Given the description of an element on the screen output the (x, y) to click on. 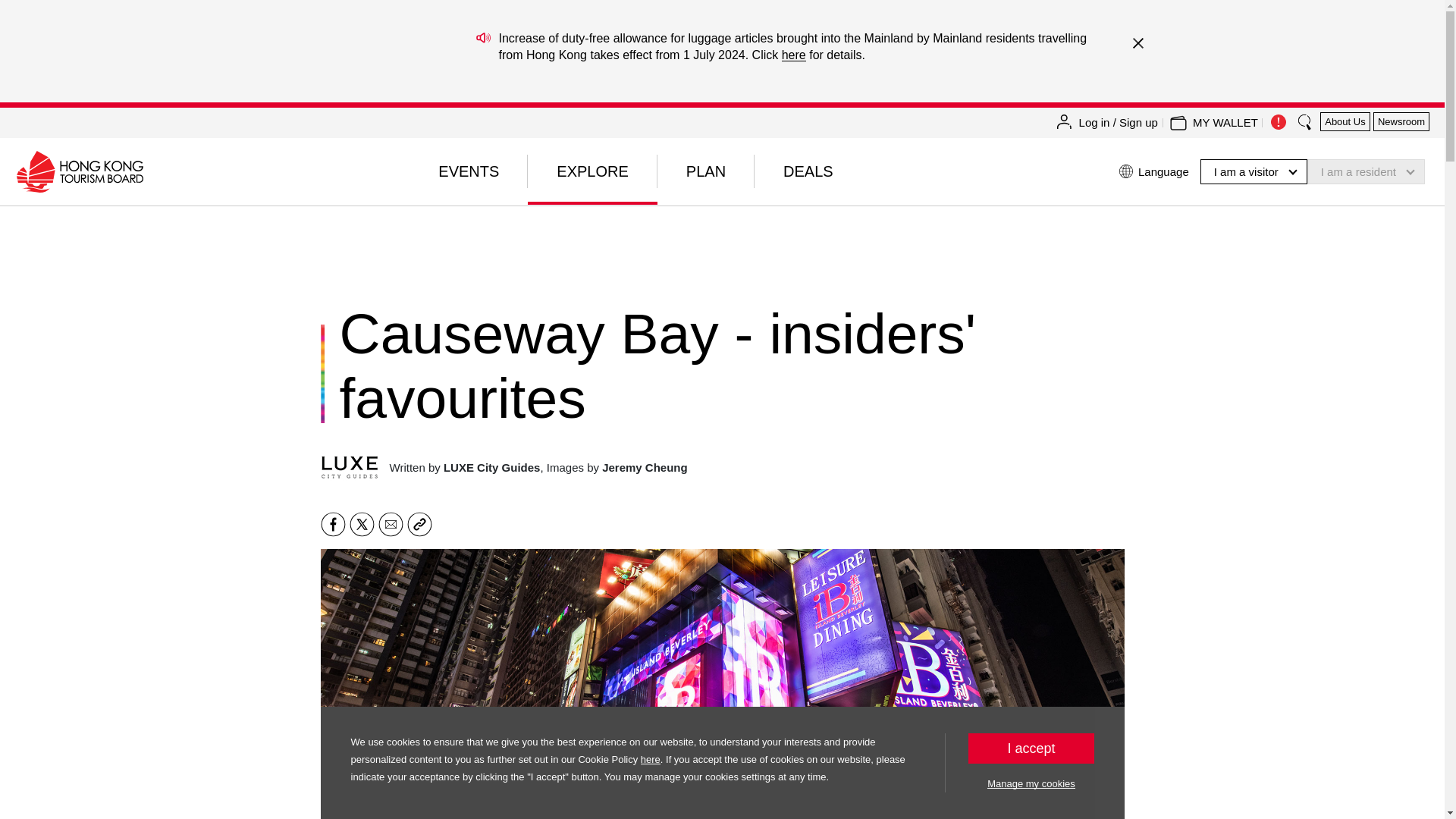
LUXE City Guides (348, 467)
PLAN (706, 171)
EXPLORE (591, 171)
About Us (1345, 121)
MY WALLET (1224, 122)
here (793, 54)
Newsroom (1401, 121)
Hong Kong Tourism Board (79, 171)
